Given the description of an element on the screen output the (x, y) to click on. 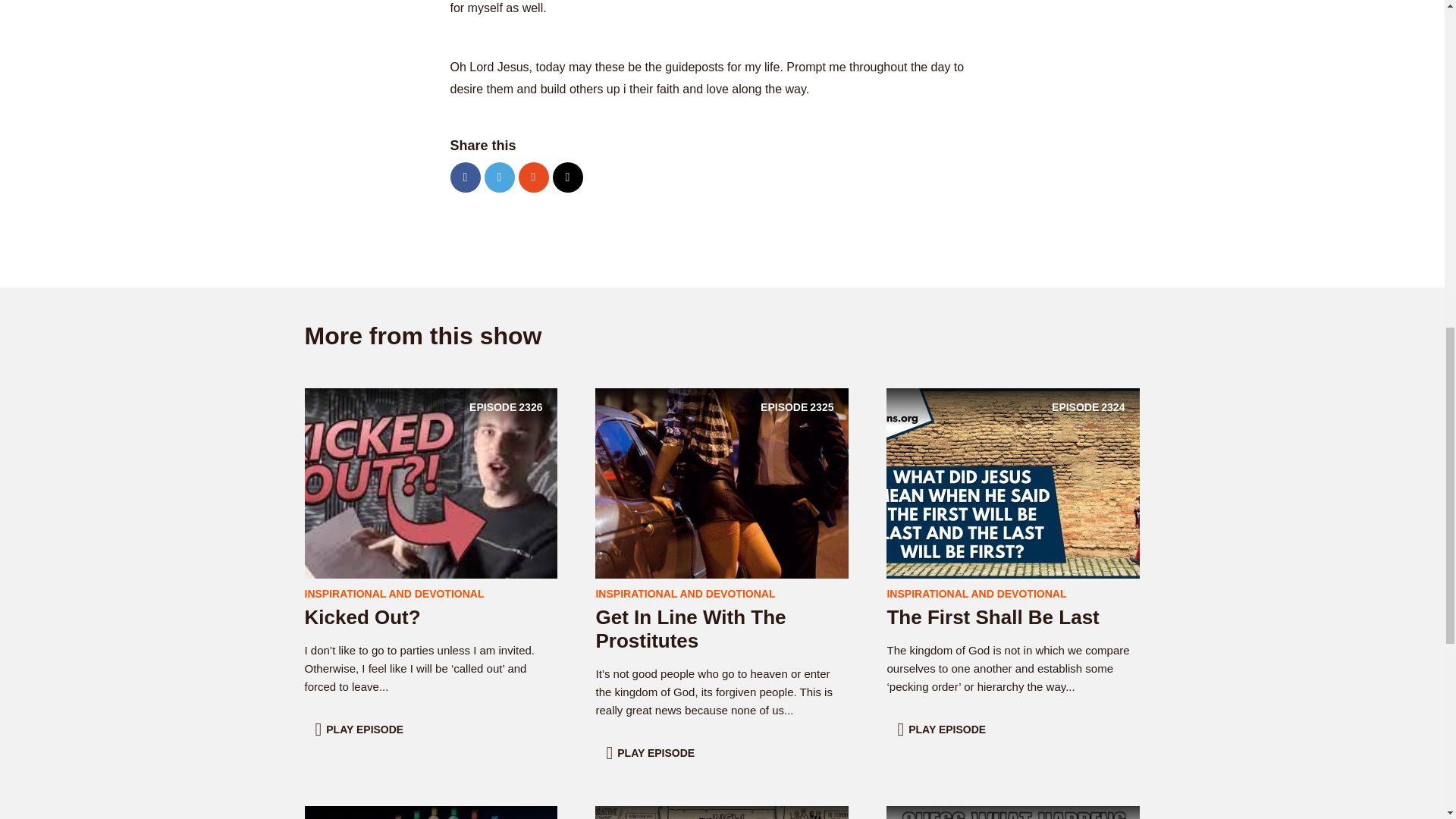
PLAY EPISODE (361, 729)
INSPIRATIONAL AND DEVOTIONAL (684, 593)
The First Shall Be Last (721, 481)
Get In Line With The Prostitutes (992, 617)
INSPIRATIONAL AND DEVOTIONAL (690, 628)
PLAY EPISODE (975, 593)
PLAY EPISODE (430, 481)
Kicked Out? (652, 752)
INSPIRATIONAL AND DEVOTIONAL (943, 729)
